Given the description of an element on the screen output the (x, y) to click on. 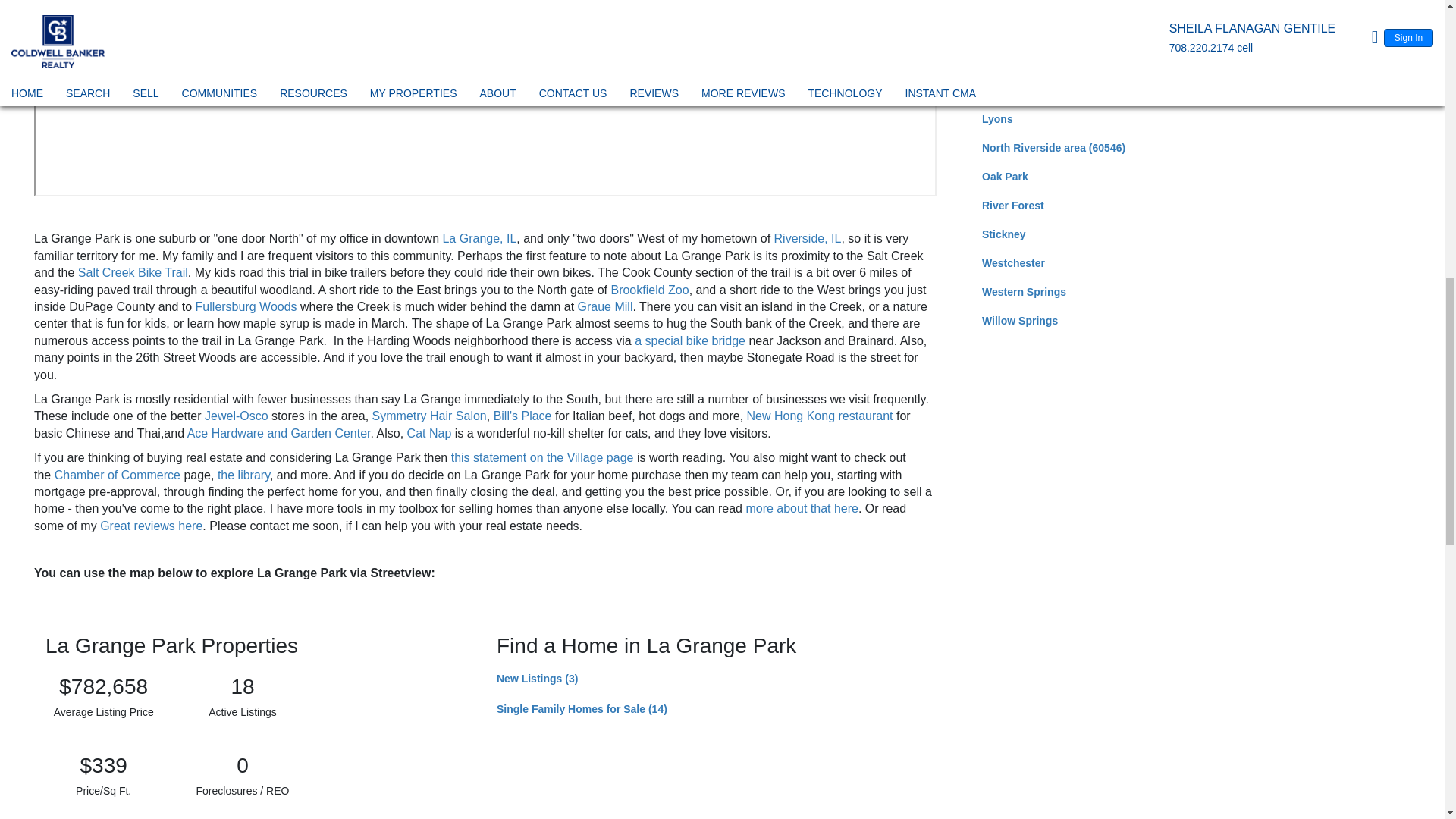
Brookfield Zoo (649, 289)
Jewel-Osco (236, 415)
a special bike bridge (689, 340)
Fullersburg Woods (246, 306)
Salt Creek Bike Trail (132, 272)
New Hong Kong restaurant (819, 415)
La Grange, IL (479, 237)
Symmetry Hair Salon (429, 415)
Ace Hardware and Garden Center (279, 432)
Riverside, IL (807, 237)
Bill's Place (522, 415)
Graue Mill (605, 306)
